Given the description of an element on the screen output the (x, y) to click on. 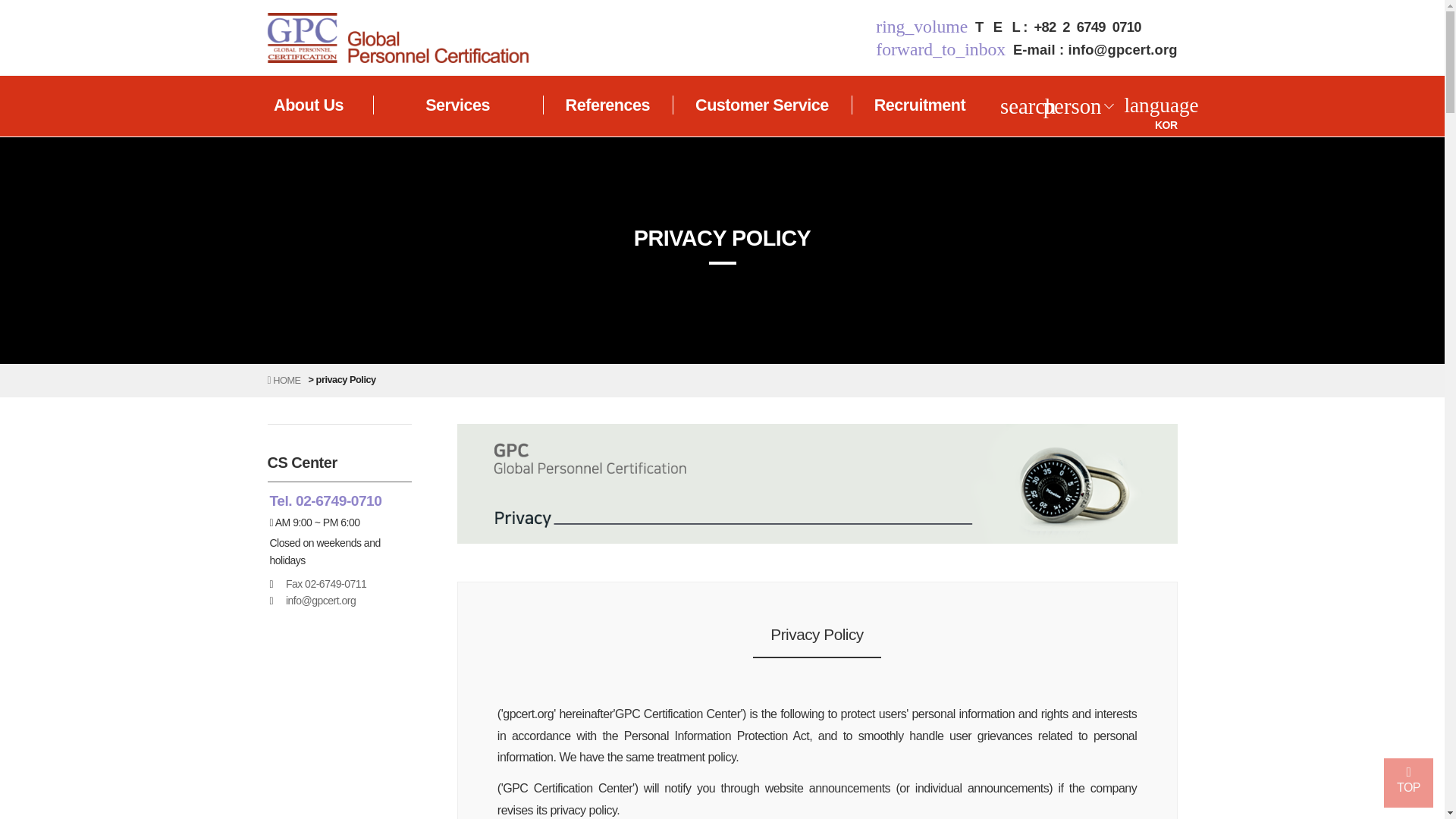
searchSearch (1028, 106)
Customer Service (761, 104)
About Us (308, 104)
person (1072, 106)
Contact Us (1058, 26)
Services (457, 104)
Search (1028, 106)
User menu (1072, 106)
HOME (282, 379)
Recruitment (920, 104)
References (607, 104)
Send Email (1095, 48)
